Given the description of an element on the screen output the (x, y) to click on. 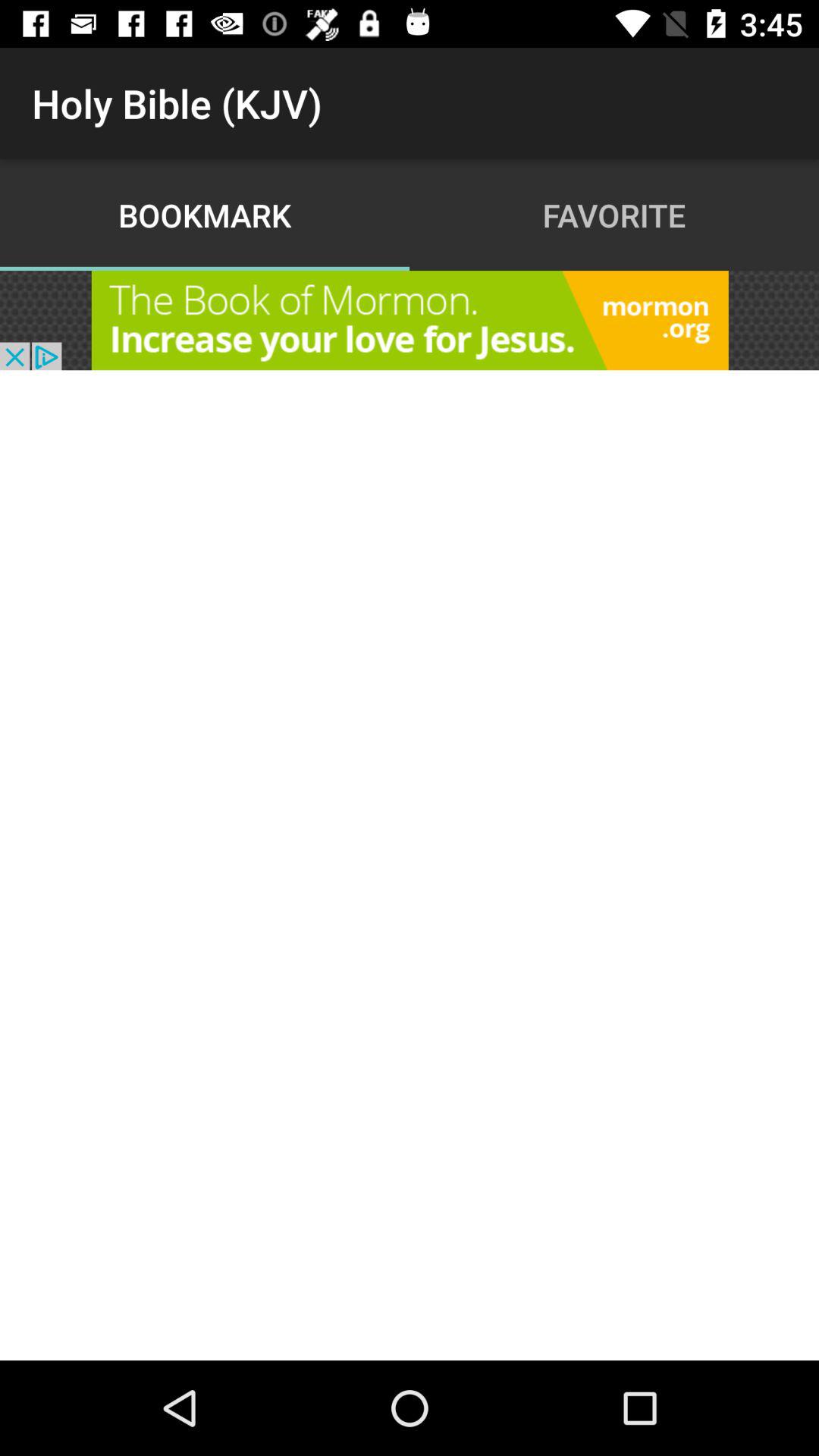
advertisement link (409, 320)
